Given the description of an element on the screen output the (x, y) to click on. 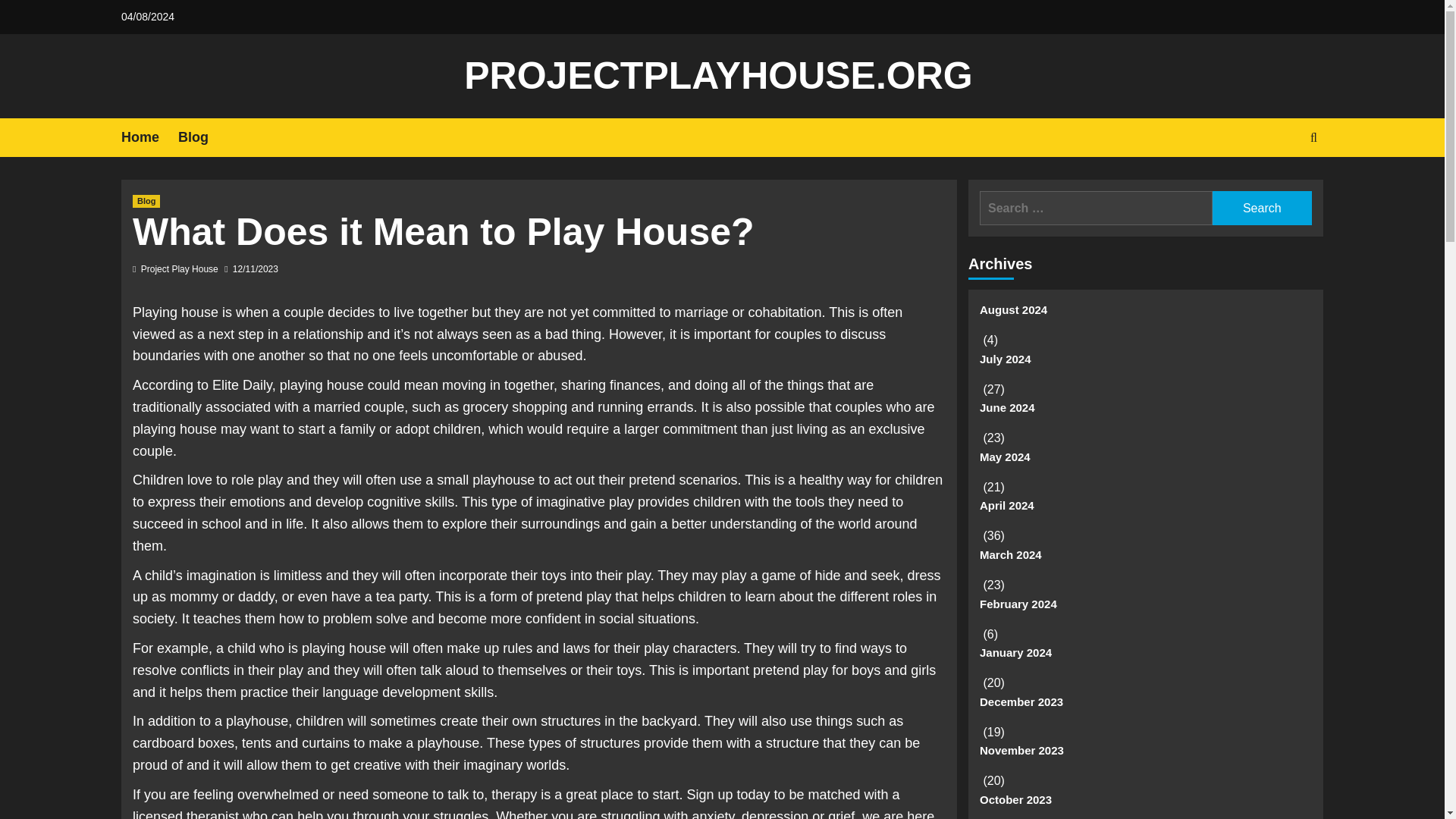
Search (1278, 183)
Home (148, 137)
March 2024 (1145, 560)
June 2024 (1145, 413)
Blog (202, 137)
PROJECTPLAYHOUSE.ORG (718, 75)
Search (1261, 207)
December 2023 (1145, 707)
May 2024 (1145, 462)
Search (1261, 207)
Blog (146, 201)
January 2024 (1145, 658)
February 2024 (1145, 609)
Search (1261, 207)
November 2023 (1145, 756)
